Given the description of an element on the screen output the (x, y) to click on. 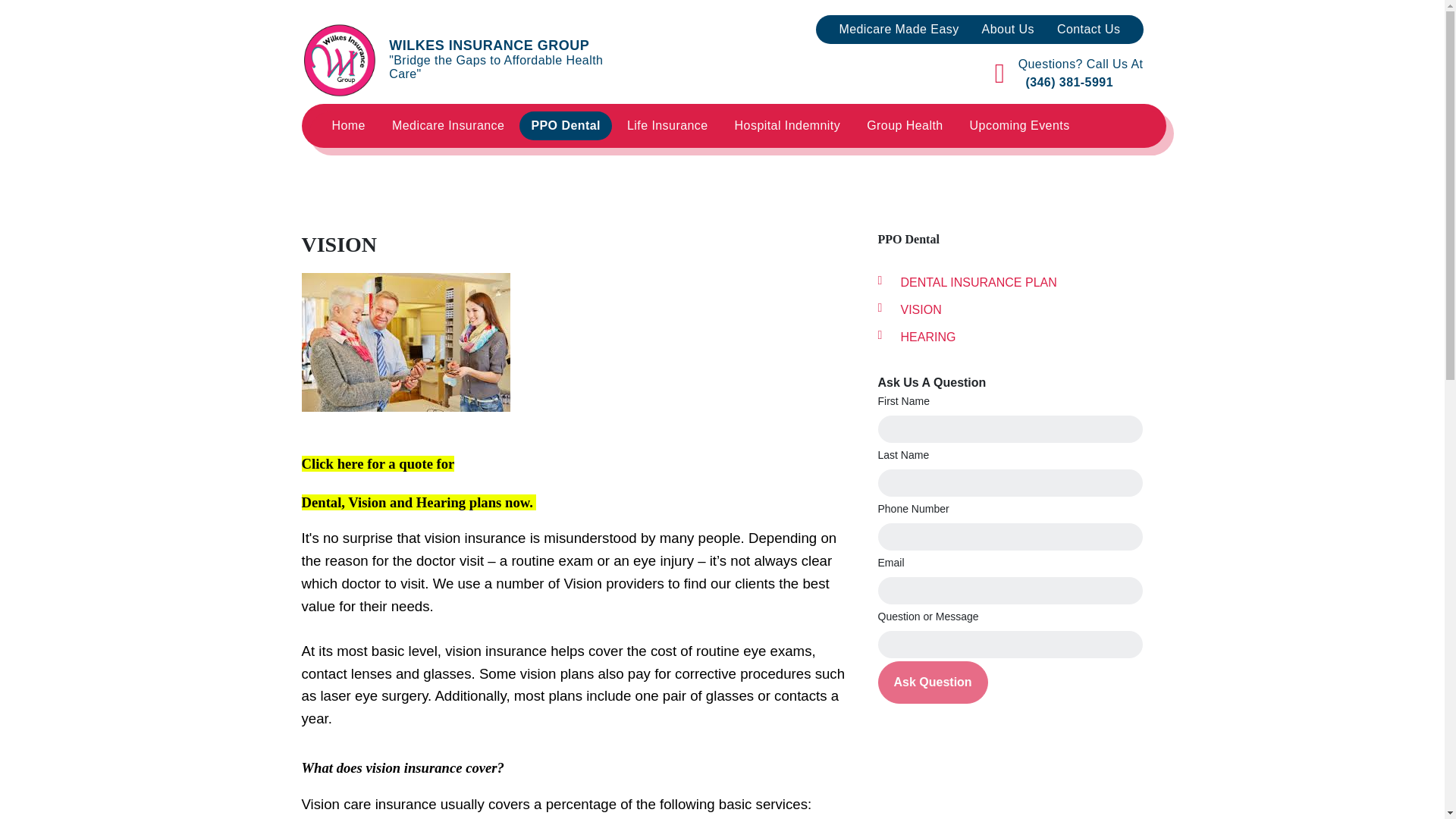
DENTAL INSURANCE PLAN (1009, 282)
Ask Question (932, 681)
Which Makes Sense for You: Permanent or Term Life Insurance? (688, 168)
DENTAL INSURANCE PLAN (592, 161)
Dental, Vision and Hearing plans now.  (419, 502)
Medicare Made Easy (898, 29)
Home (347, 125)
Group and Health Benefiits (393, 161)
Medigap plan F (454, 154)
Click here for a quote for (377, 463)
About Us (1008, 29)
Upcoming Events (1007, 154)
HEARING (1009, 337)
